Given the description of an element on the screen output the (x, y) to click on. 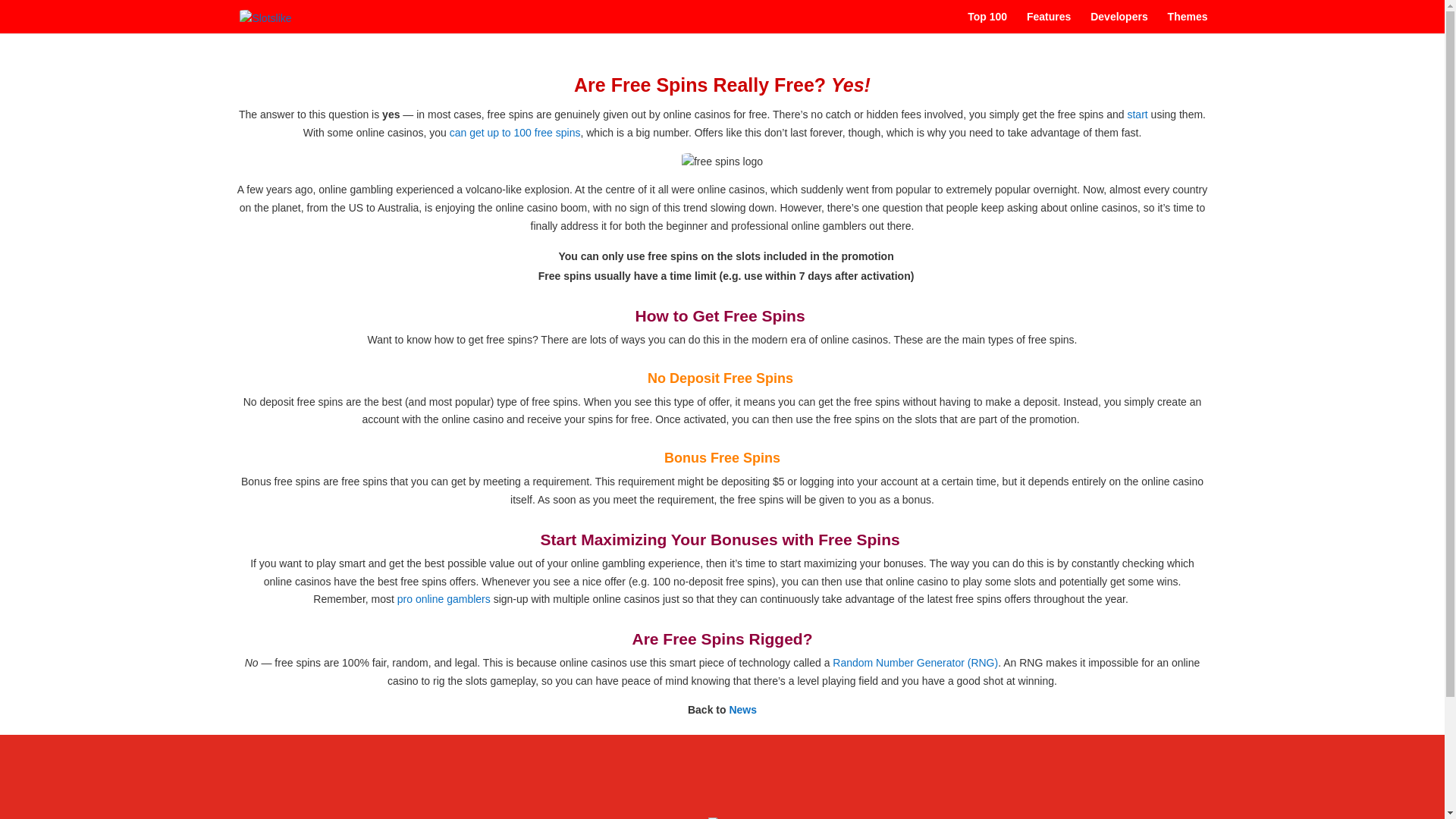
Developers (1118, 22)
pro online gamblers (443, 598)
Features (1048, 22)
News (743, 709)
can get up to 100 free spins (514, 132)
Themes (1187, 22)
Top 100 (987, 22)
start (1136, 114)
